Given the description of an element on the screen output the (x, y) to click on. 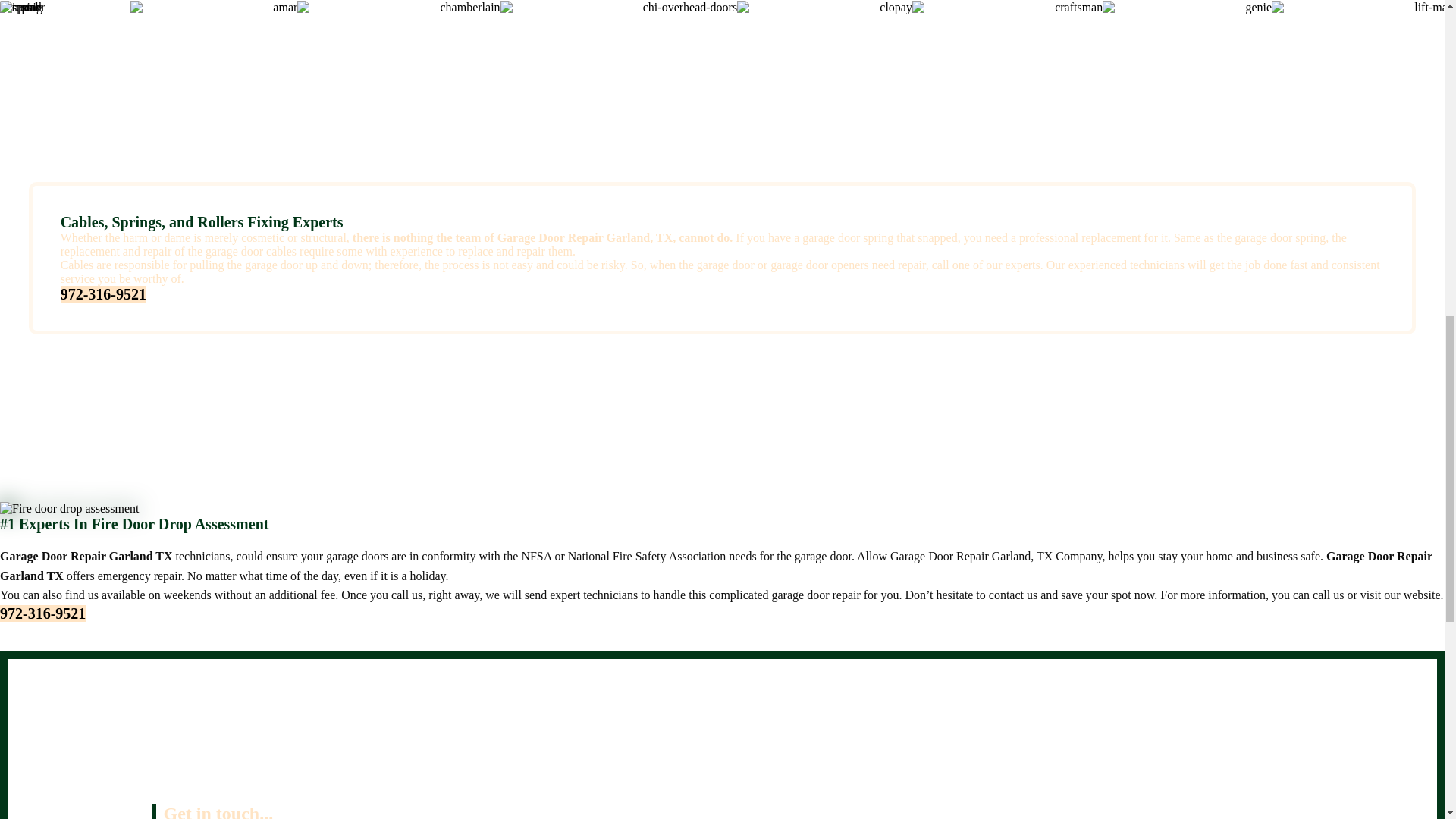
chamberlain (769, 7)
972-316-9521 (42, 613)
972-316-9521 (104, 293)
chi-overhead-doors (1126, 7)
amarr (439, 7)
